Given the description of an element on the screen output the (x, y) to click on. 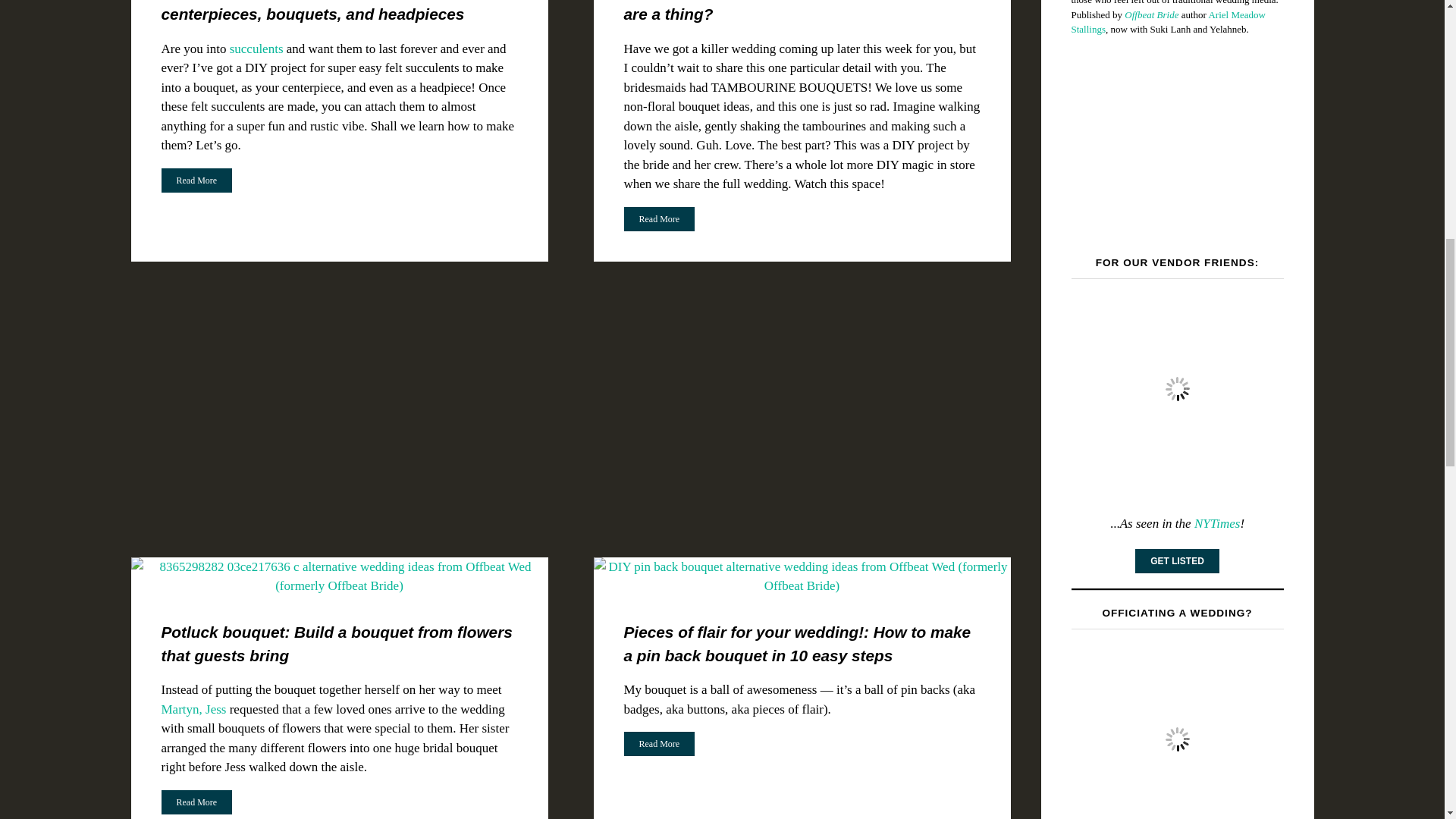
Who needs flowers when tambourine bouquets are a thing? (799, 11)
succulents (256, 48)
Read More (195, 180)
Read More (658, 218)
Read More (658, 217)
Read More (195, 178)
